Given the description of an element on the screen output the (x, y) to click on. 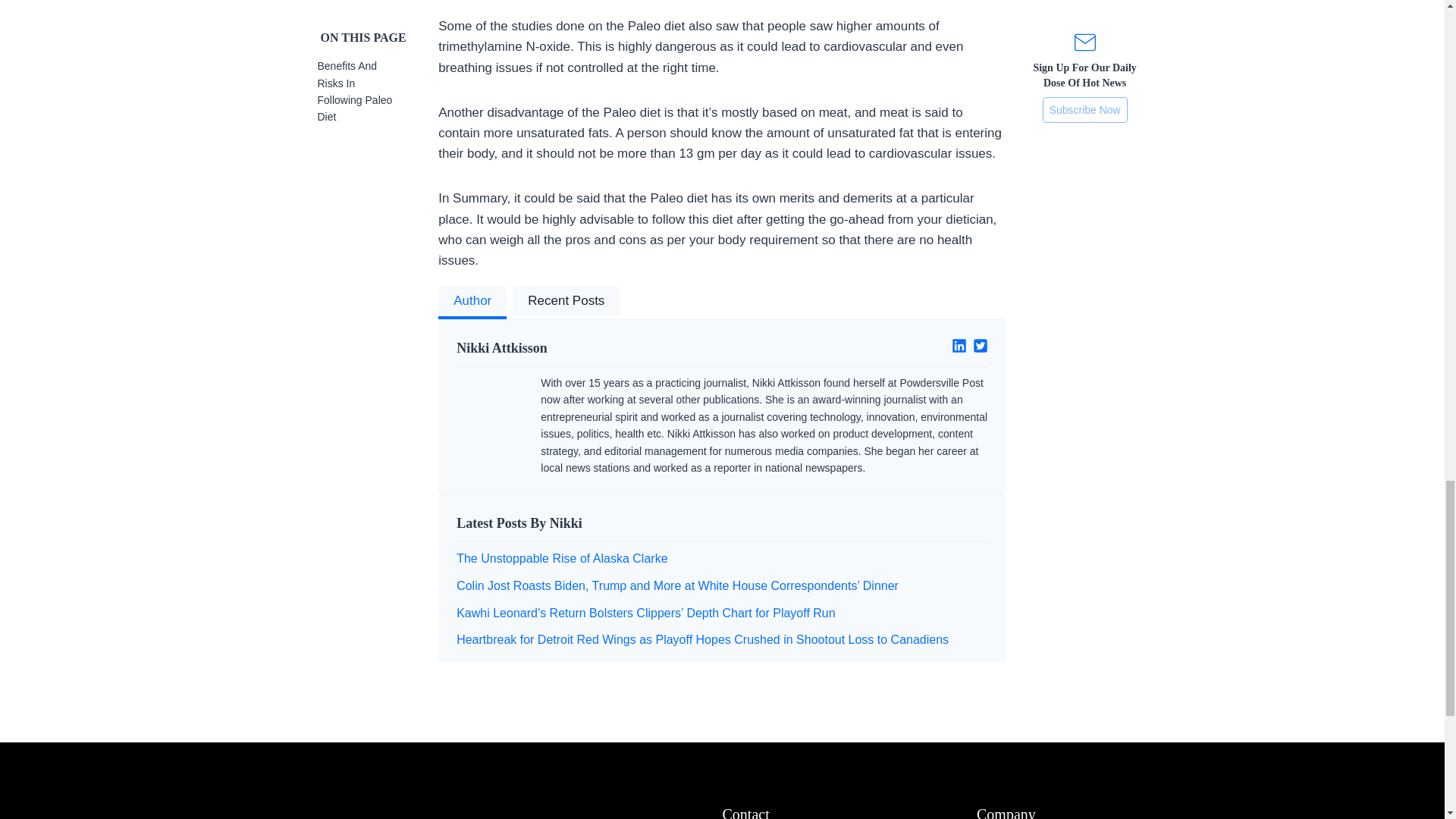
Nikki Attkisson (583, 348)
Author (472, 302)
The Unstoppable Rise of Alaska Clarke (561, 558)
Recent Posts (566, 302)
